Given the description of an element on the screen output the (x, y) to click on. 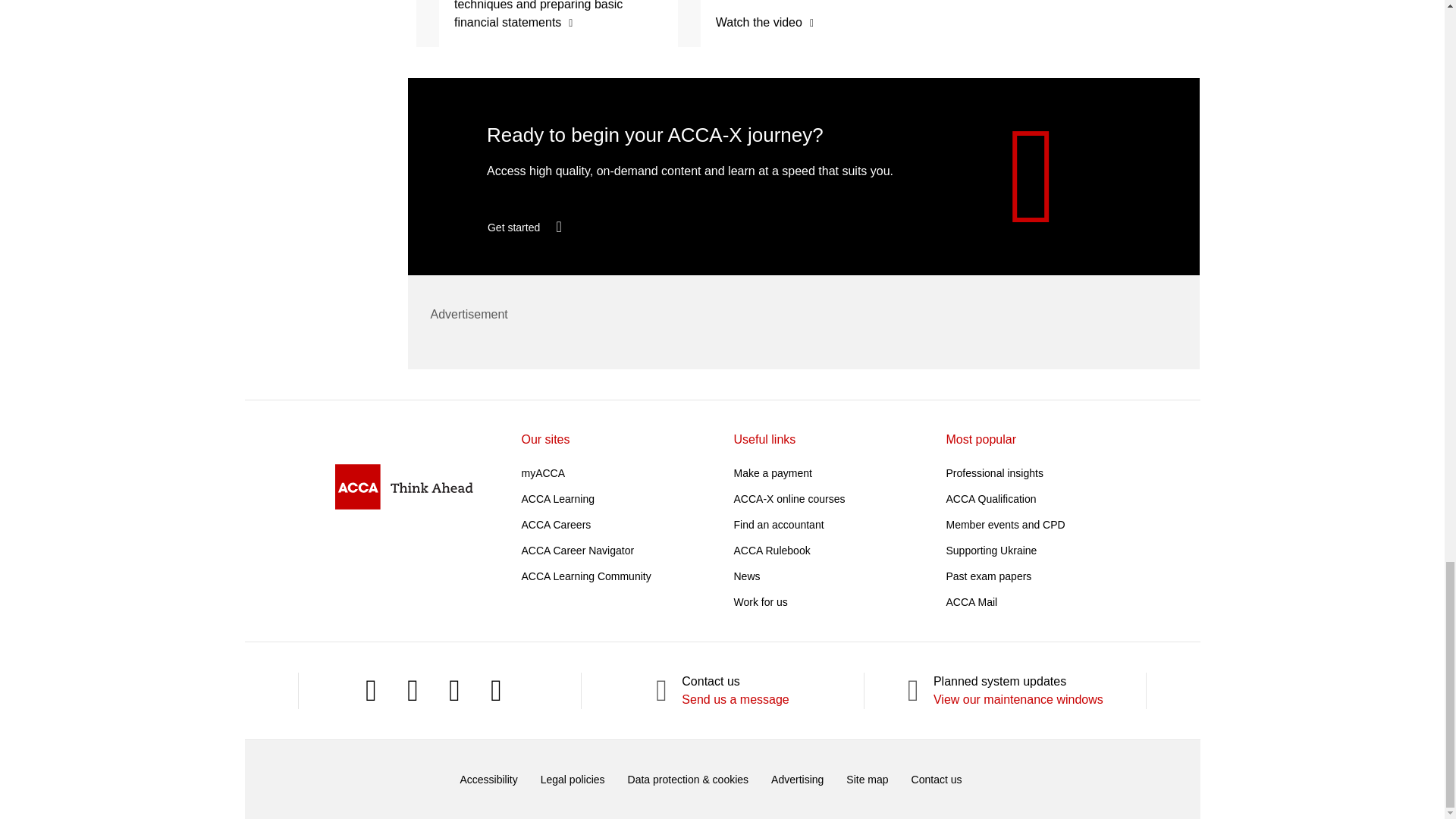
Home Link (403, 486)
ACCA-X online courses (789, 499)
myACCA (543, 472)
ACCA Rulebook (771, 550)
Make a payment (772, 472)
ACCA Career Navigator (577, 550)
News (746, 576)
Work for us (760, 602)
ACCA Careers (556, 524)
Find an accountant (778, 524)
Professional insights (994, 472)
ACCA Learning (558, 499)
ACCA Learning Community (585, 576)
Get started (537, 227)
